Given the description of an element on the screen output the (x, y) to click on. 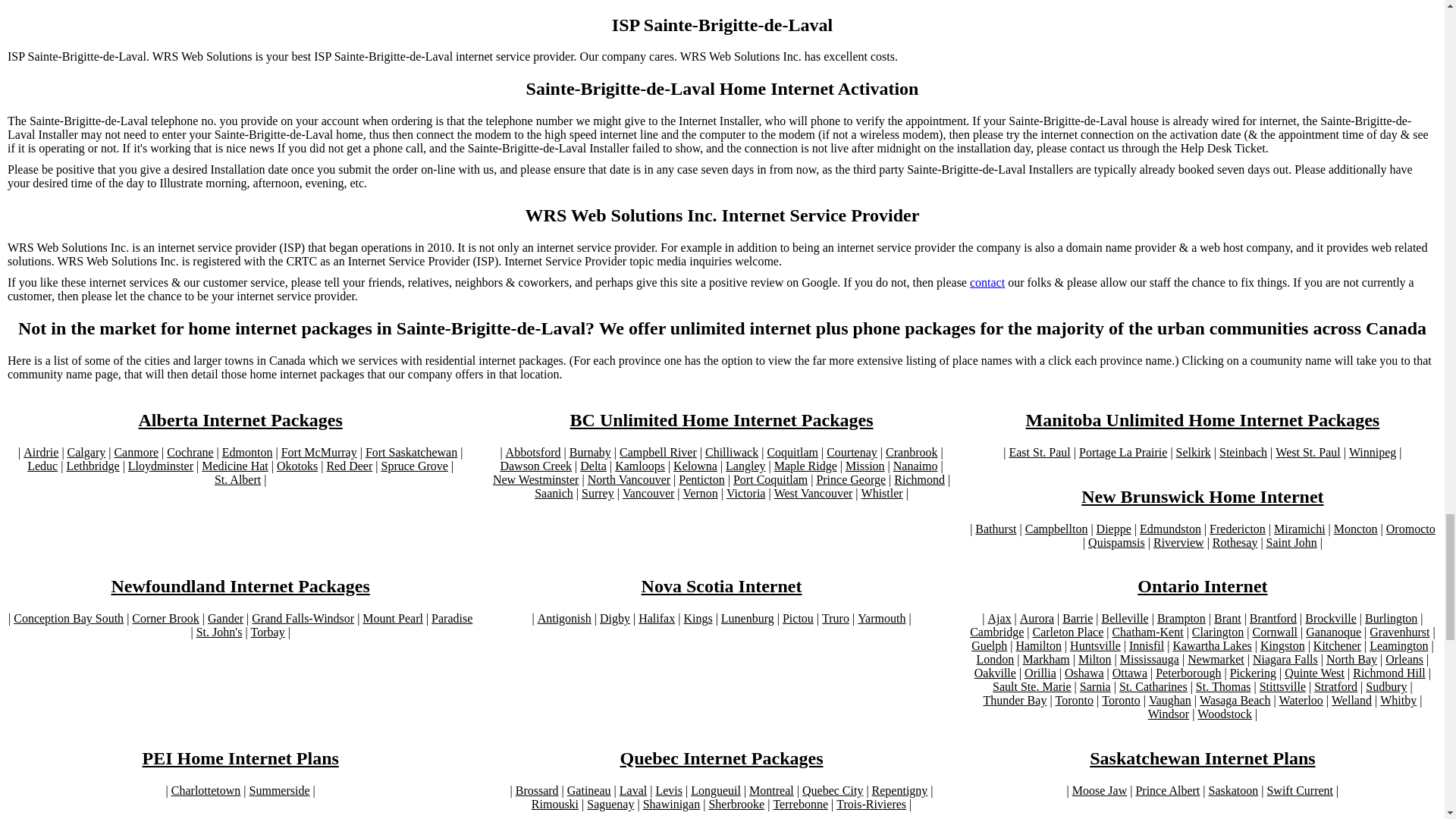
Calgary (86, 452)
Canmore (135, 452)
Fort Saskatchewan (411, 452)
Leduc (42, 466)
Cochrane (189, 452)
contact (986, 282)
Fort McMurray (318, 452)
Alberta Internet Packages (240, 420)
Edmonton (247, 452)
Lethbridge (92, 466)
